Given the description of an element on the screen output the (x, y) to click on. 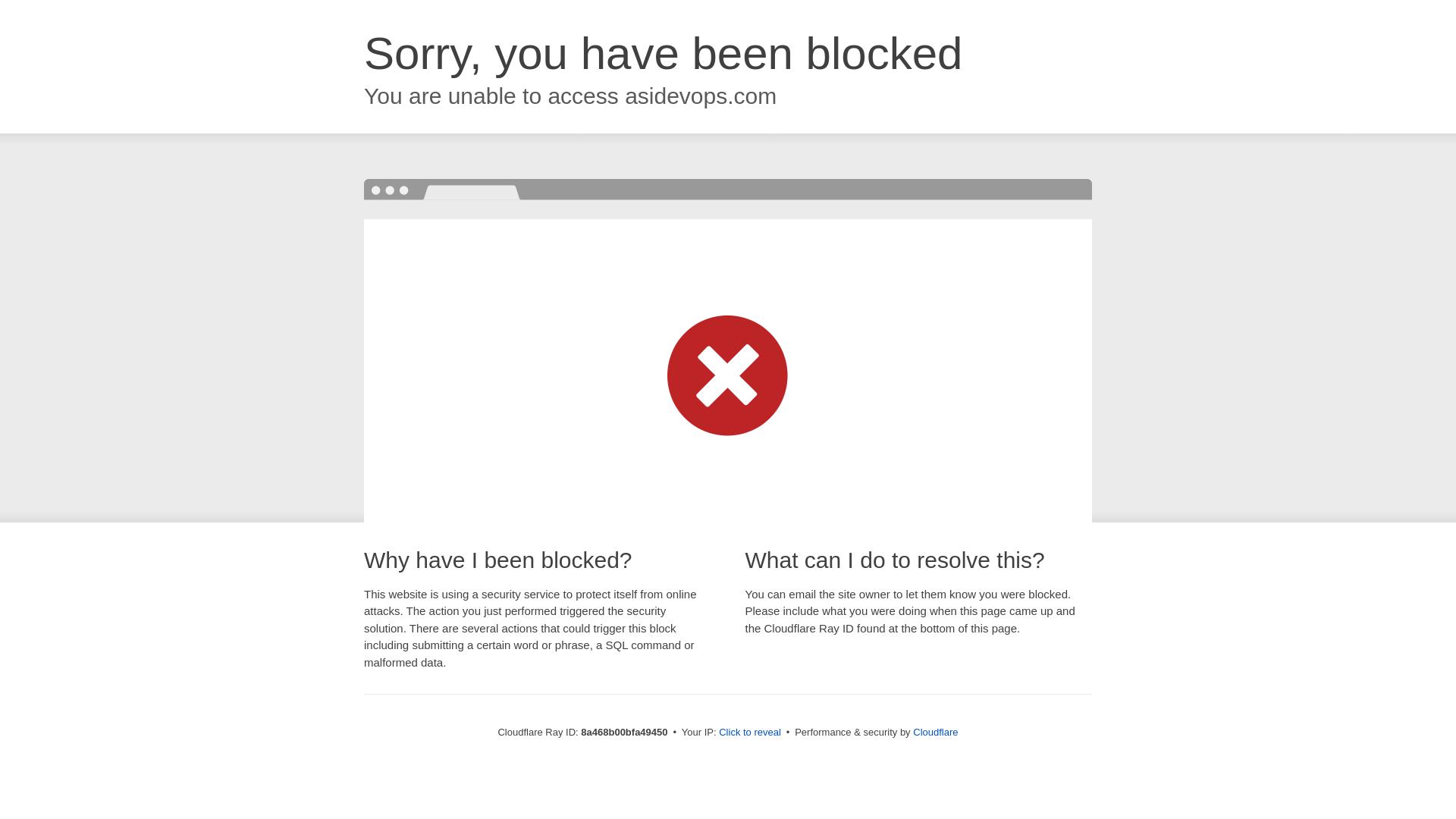
Cloudflare (935, 731)
Click to reveal (749, 732)
